Given the description of an element on the screen output the (x, y) to click on. 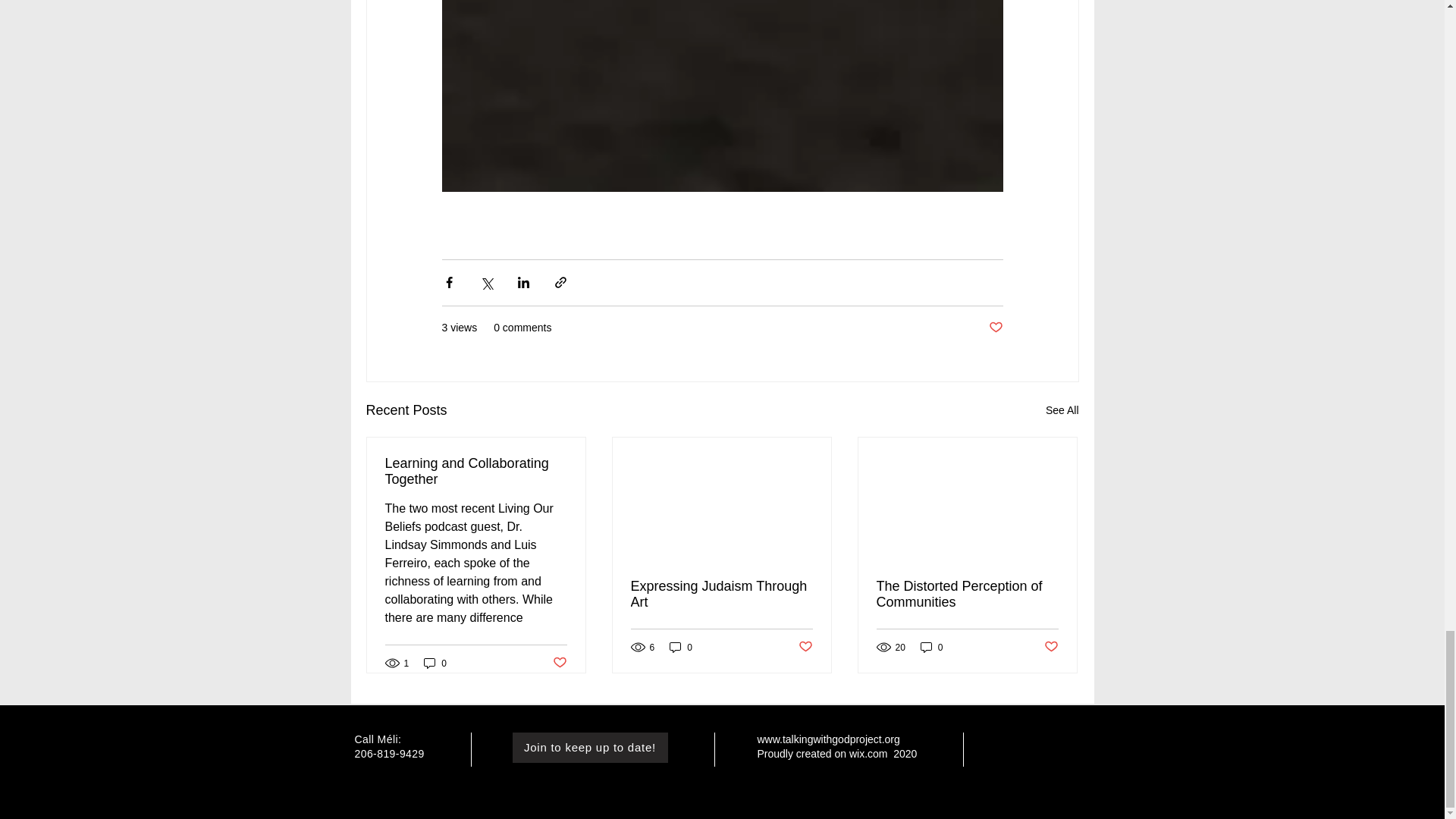
0 (681, 646)
Post not marked as liked (995, 327)
Post not marked as liked (1050, 647)
Join to keep up to date! (590, 747)
www.talkingwithgodproject.org (828, 739)
See All (1061, 410)
0 (435, 663)
Learning and Collaborating Together (476, 471)
0 (931, 646)
Post not marked as liked (558, 662)
Expressing Judaism Through Art (721, 594)
The Distorted Perception of Communities (967, 594)
Post not marked as liked (804, 647)
